Given the description of an element on the screen output the (x, y) to click on. 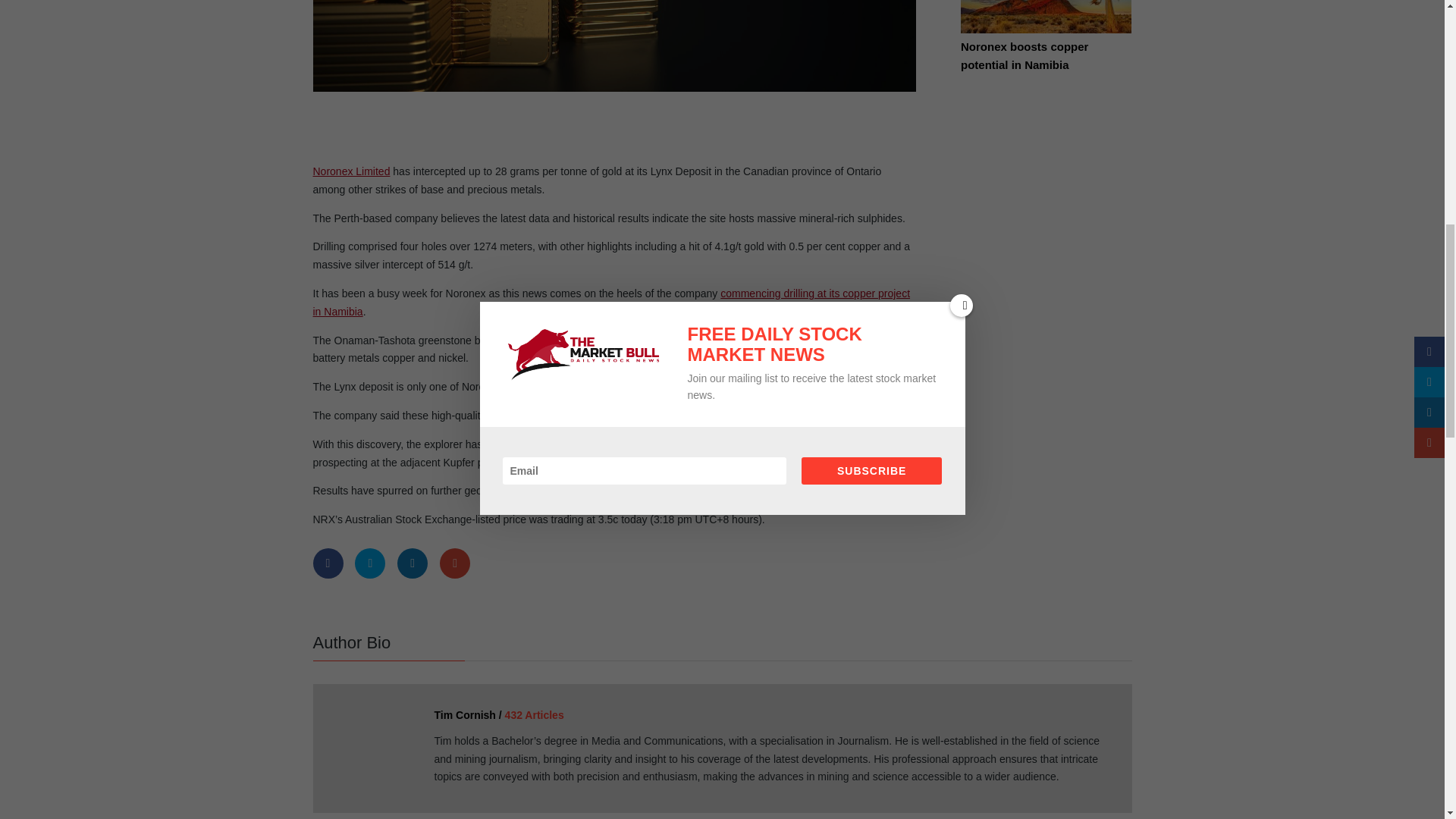
Noronex boosts copper potential in Namibia (1045, 27)
Rising gold prices on the stock market. 3d illustration. (614, 45)
Tim Cornish (372, 744)
